Given the description of an element on the screen output the (x, y) to click on. 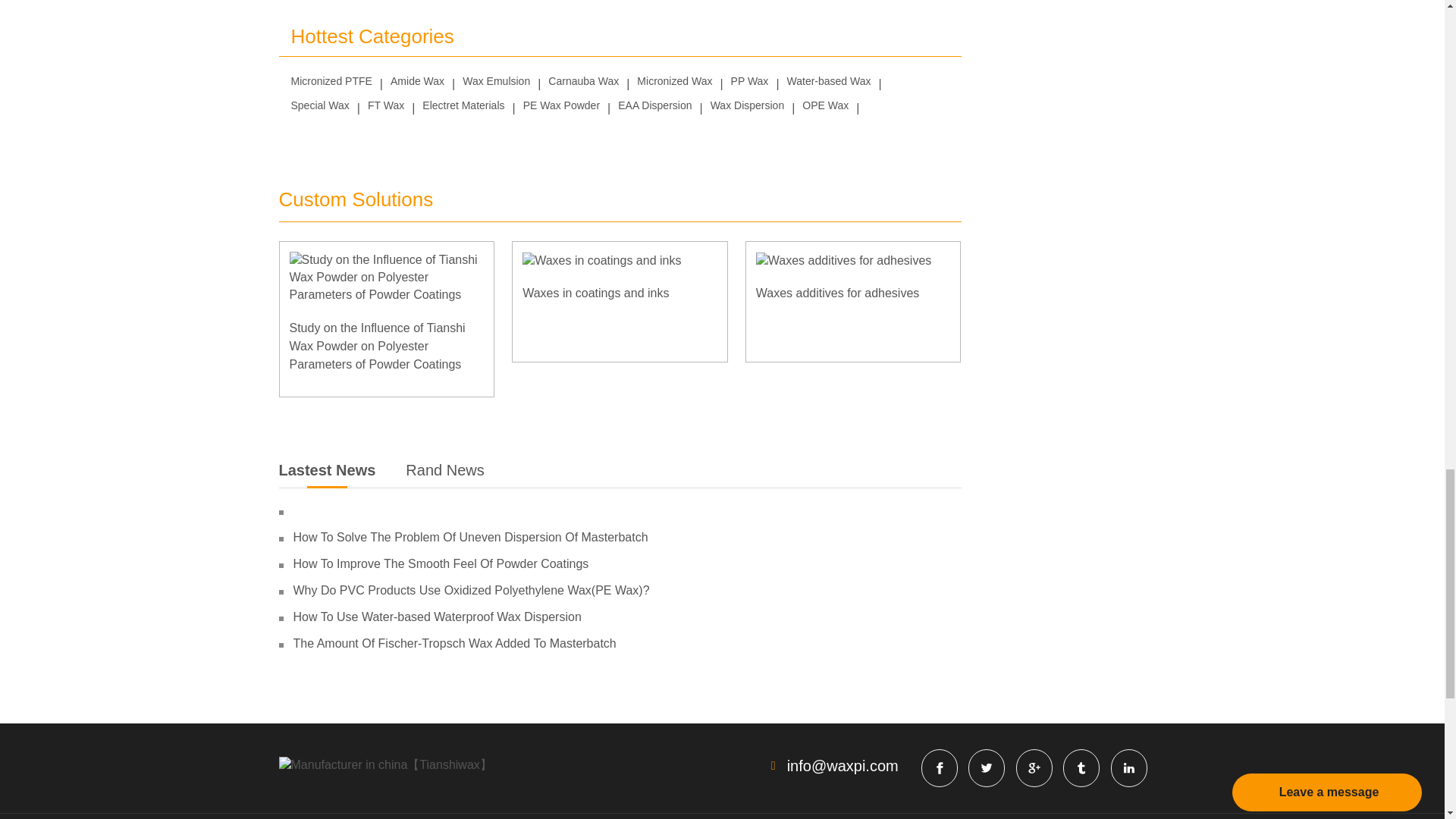
Waxes additives for adhesives (843, 261)
Waxes in coatings and inks (601, 261)
